Given the description of an element on the screen output the (x, y) to click on. 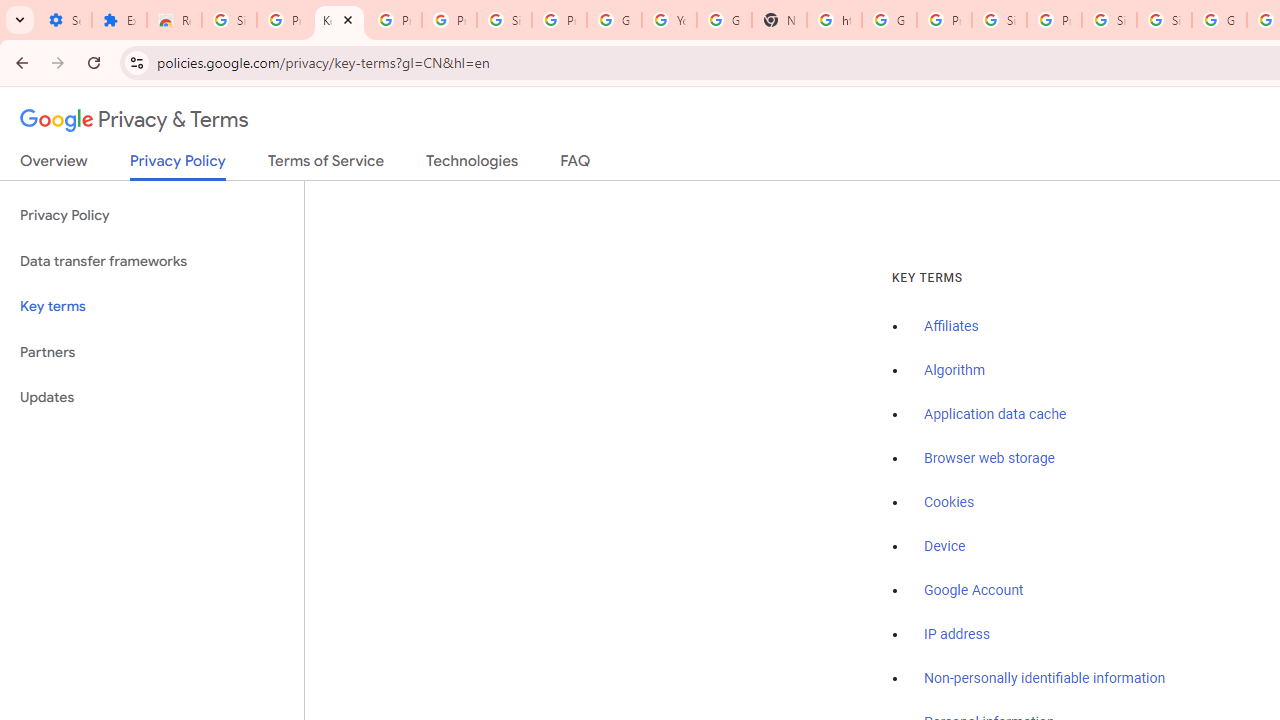
Settings - On startup (64, 20)
Non-personally identifiable information (1045, 679)
Reviews: Helix Fruit Jump Arcade Game (174, 20)
Algorithm (954, 371)
Google Account (974, 590)
New Tab (779, 20)
Google Account (614, 20)
